Given the description of an element on the screen output the (x, y) to click on. 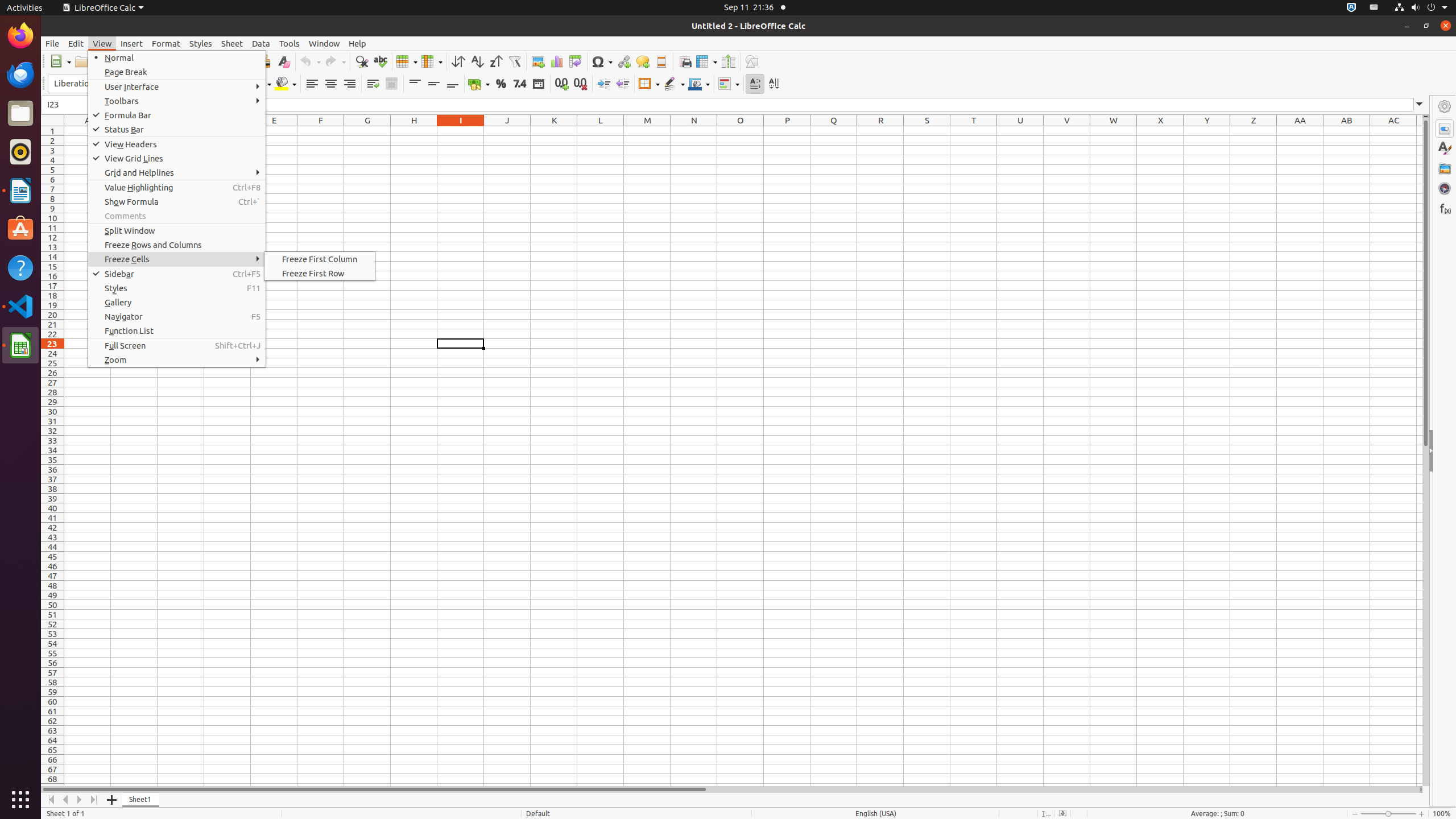
M1 Element type: table-cell (646, 130)
Z1 Element type: table-cell (1253, 130)
Row Element type: push-button (406, 61)
Image Element type: push-button (537, 61)
Split Window Element type: check-menu-item (176, 230)
